Given the description of an element on the screen output the (x, y) to click on. 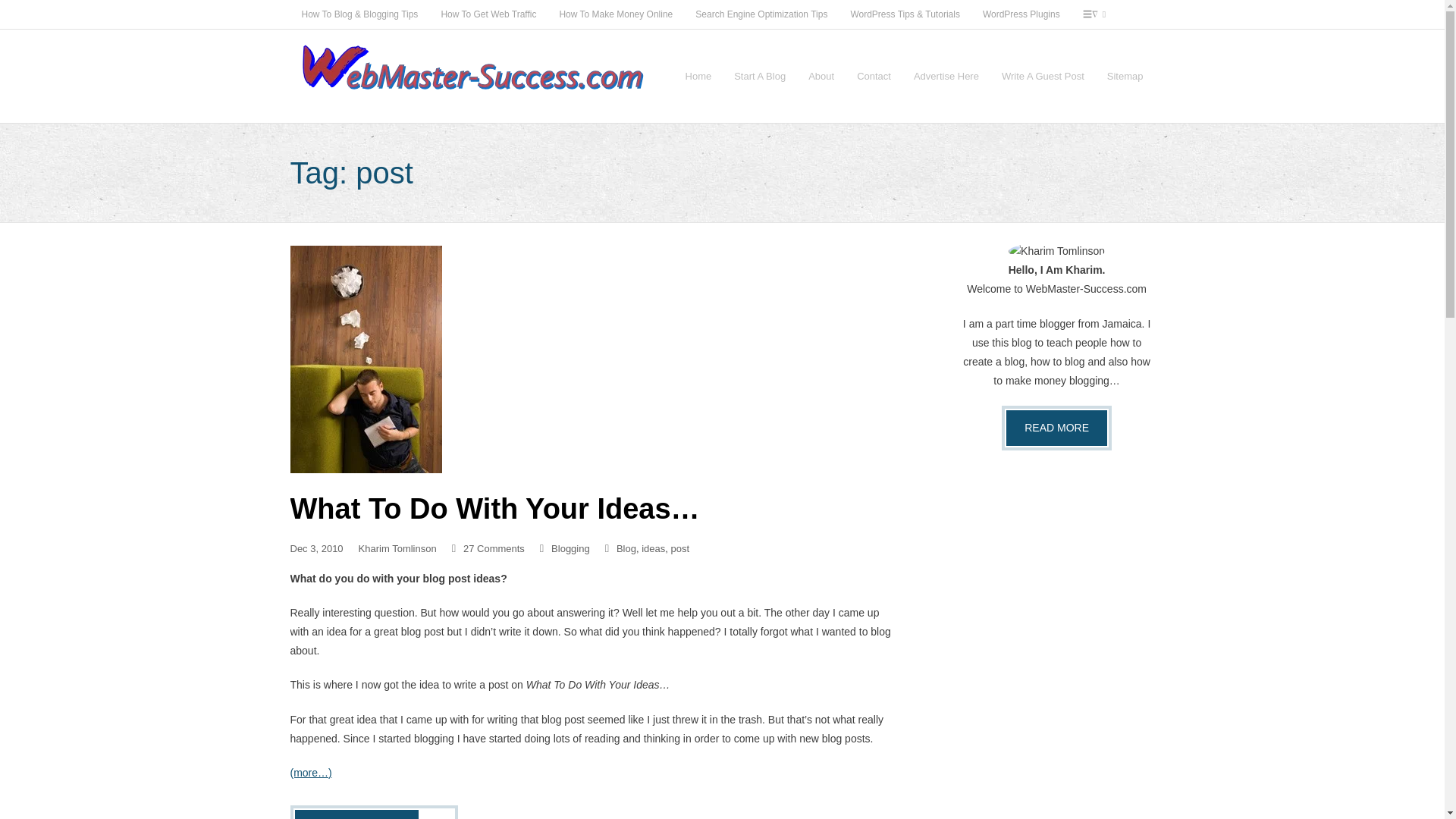
Advertise Here (946, 75)
ideas (653, 548)
Blog (625, 548)
WordPress Plugins (1021, 14)
Search Engine Optimization Tips (761, 14)
How To Make Money Online (615, 14)
Advertise Your Website Here (946, 75)
post (680, 548)
Write A Guest Post (1043, 75)
Dec 3, 2010 (315, 548)
Blogging (570, 548)
How To Get Web Traffic (488, 14)
Write a Guest Post For This Blog (1043, 75)
View all posts by Kharim Tomlinson (397, 548)
Kharim Tomlinson (397, 548)
